Given the description of an element on the screen output the (x, y) to click on. 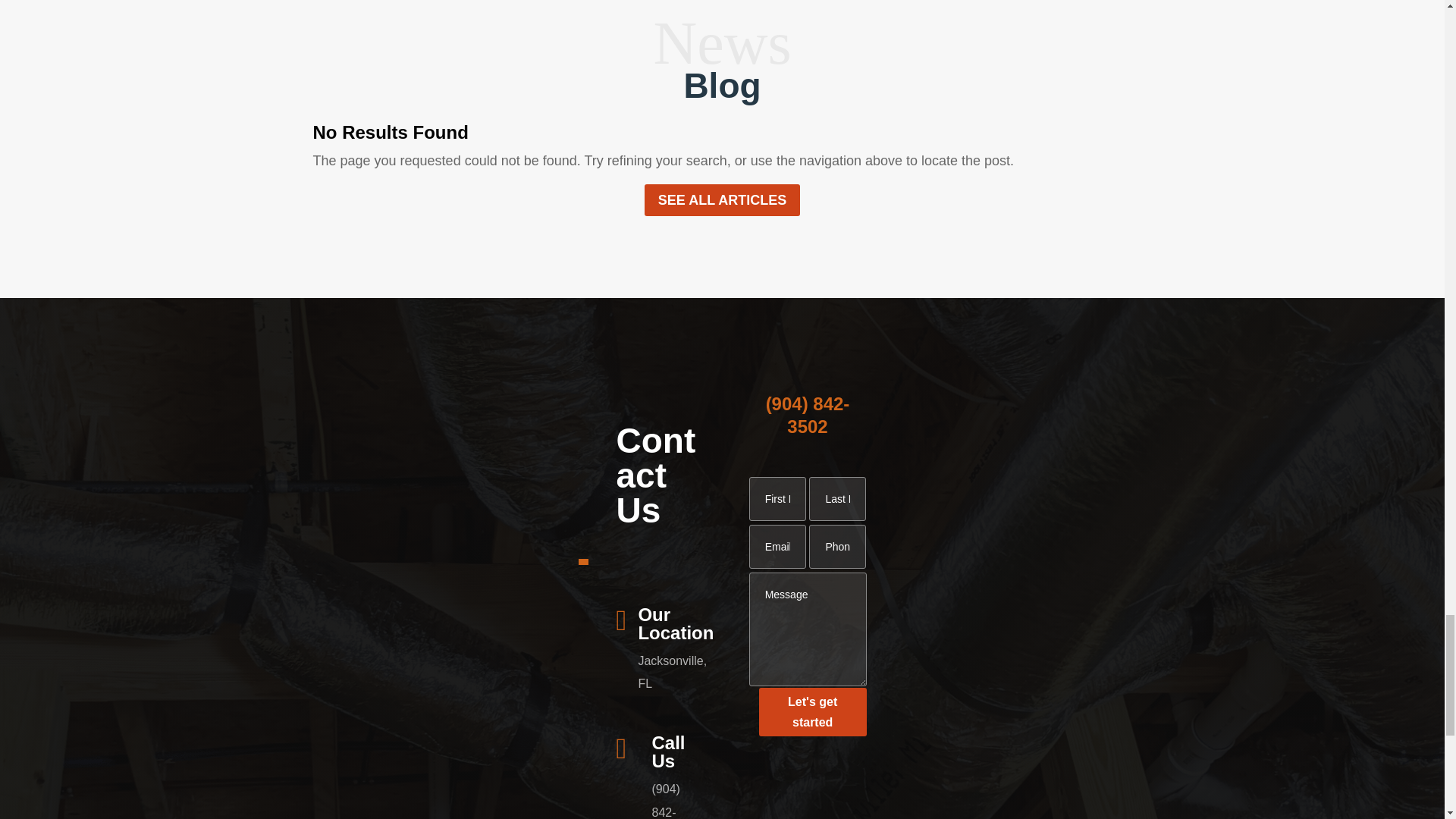
Let's get started (812, 711)
SEE ALL ARTICLES (722, 199)
Blog (721, 85)
